Given the description of an element on the screen output the (x, y) to click on. 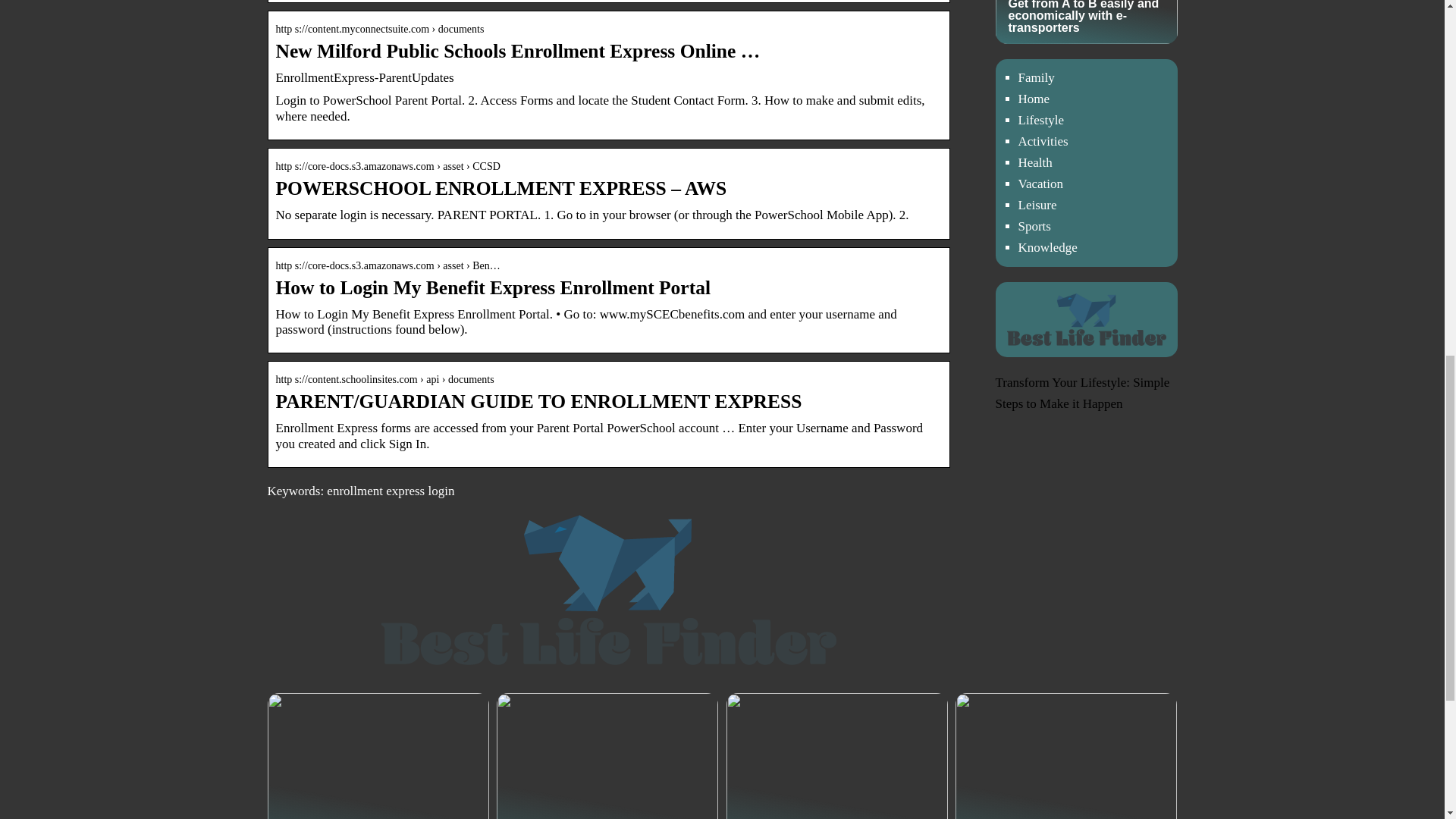
Knowledge (1047, 247)
How to find your new hobby (606, 755)
Vacation (1039, 183)
Home (1033, 98)
Family (1035, 77)
Leisure (1037, 205)
Lifestyle (1039, 120)
Transform Your Lifestyle: Simple Steps to Make it Happen (1081, 393)
Get from A to B easily and economically with e-transporters (376, 755)
Sleep needs: This is how much your child needs to sleep (1065, 755)
